Given the description of an element on the screen output the (x, y) to click on. 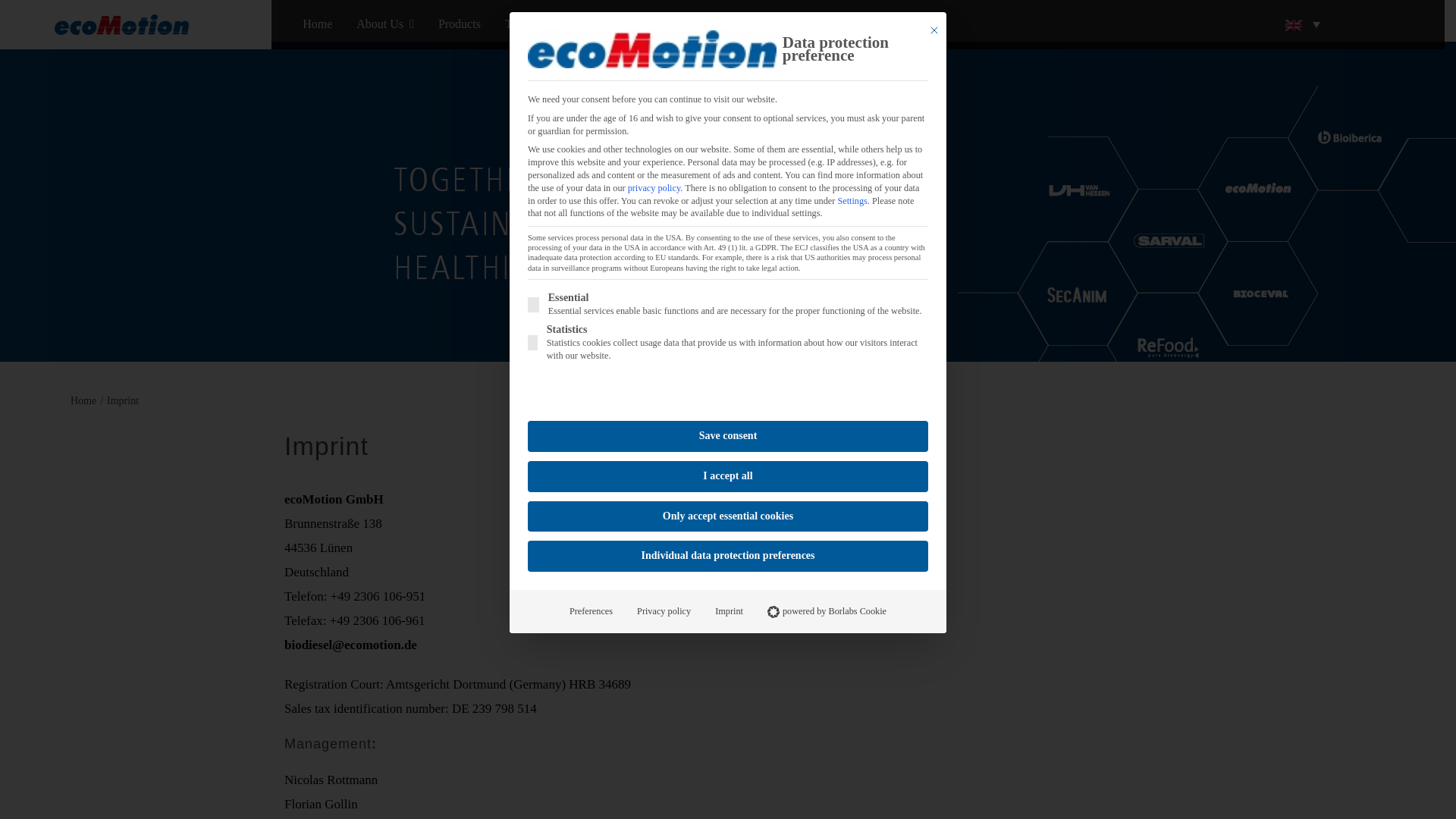
Careers (800, 24)
Contact (862, 24)
on (532, 342)
Sustainability (724, 24)
Products (459, 24)
Home (316, 24)
About Us (384, 24)
on (532, 304)
Technology and the Environment (586, 24)
Search (908, 24)
